Given the description of an element on the screen output the (x, y) to click on. 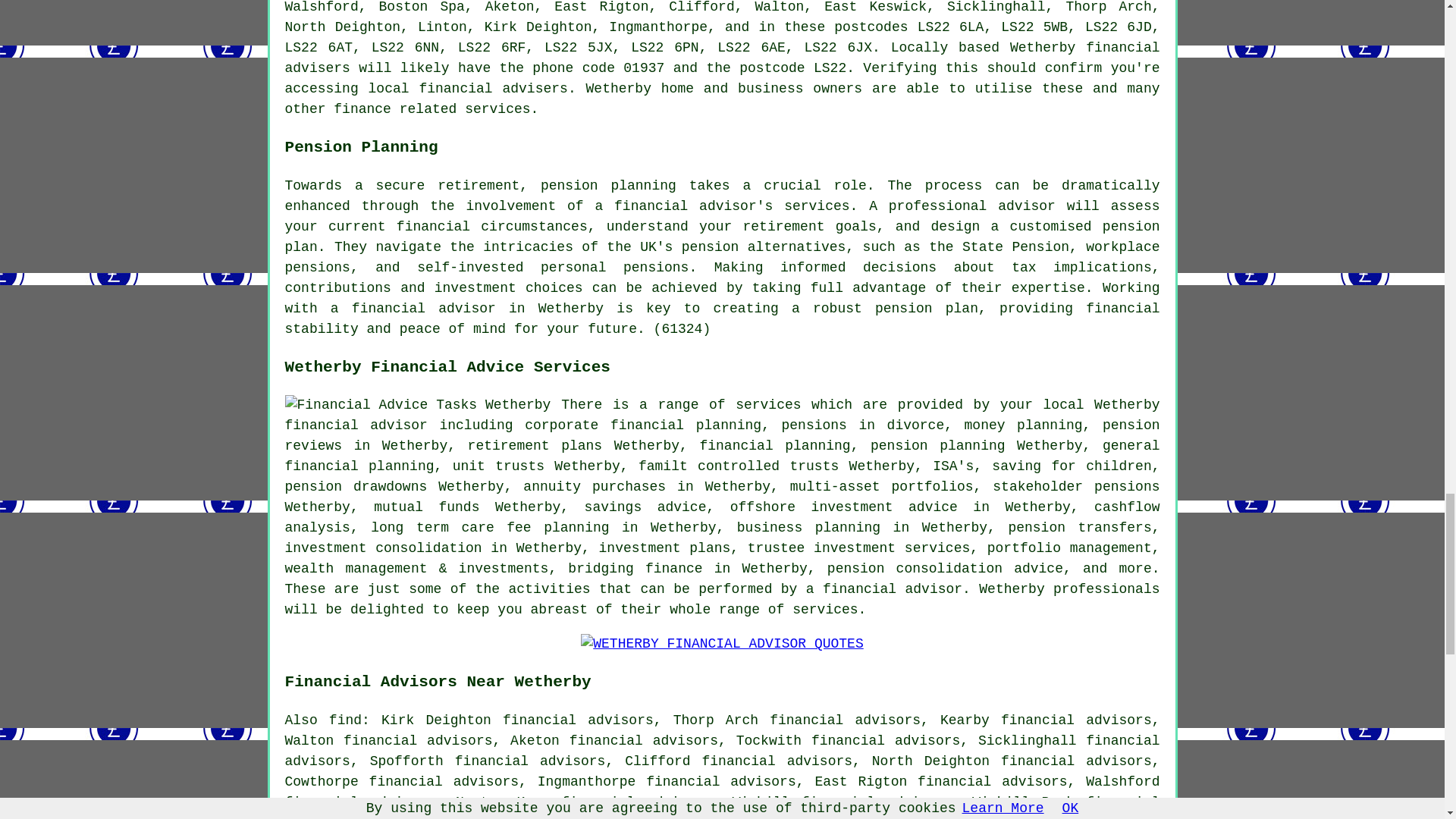
Financial Advice Tasks Wetherby (418, 404)
WETHERBY FINANCIAL ADVISOR QUOTES (721, 643)
